Given the description of an element on the screen output the (x, y) to click on. 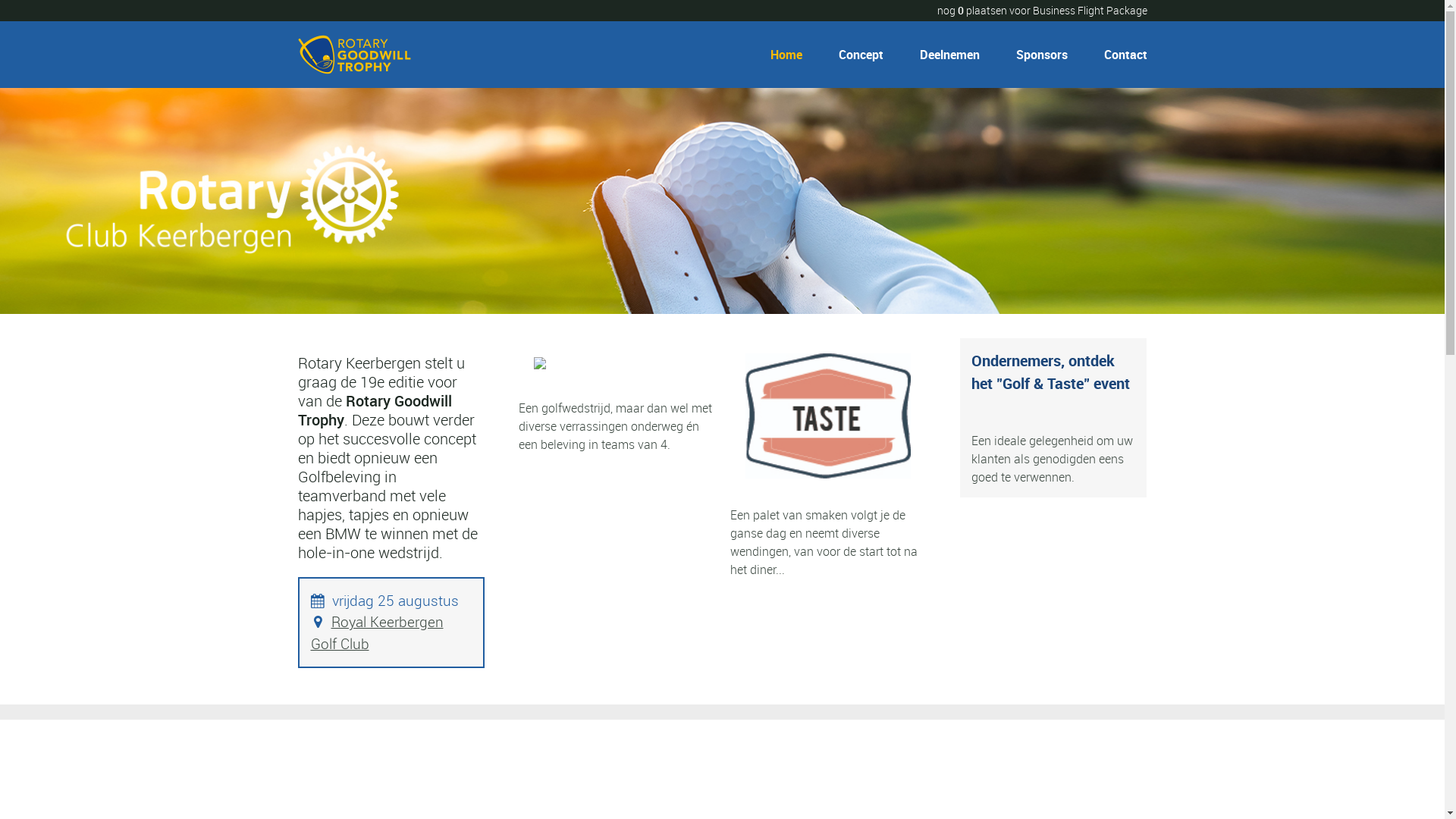
Contact Element type: text (1119, 54)
Deelnemen Element type: text (948, 54)
Sponsors Element type: text (1041, 54)
Concept Element type: text (860, 54)
Royal Keerbergen Golf Club Element type: text (376, 632)
